Given the description of an element on the screen output the (x, y) to click on. 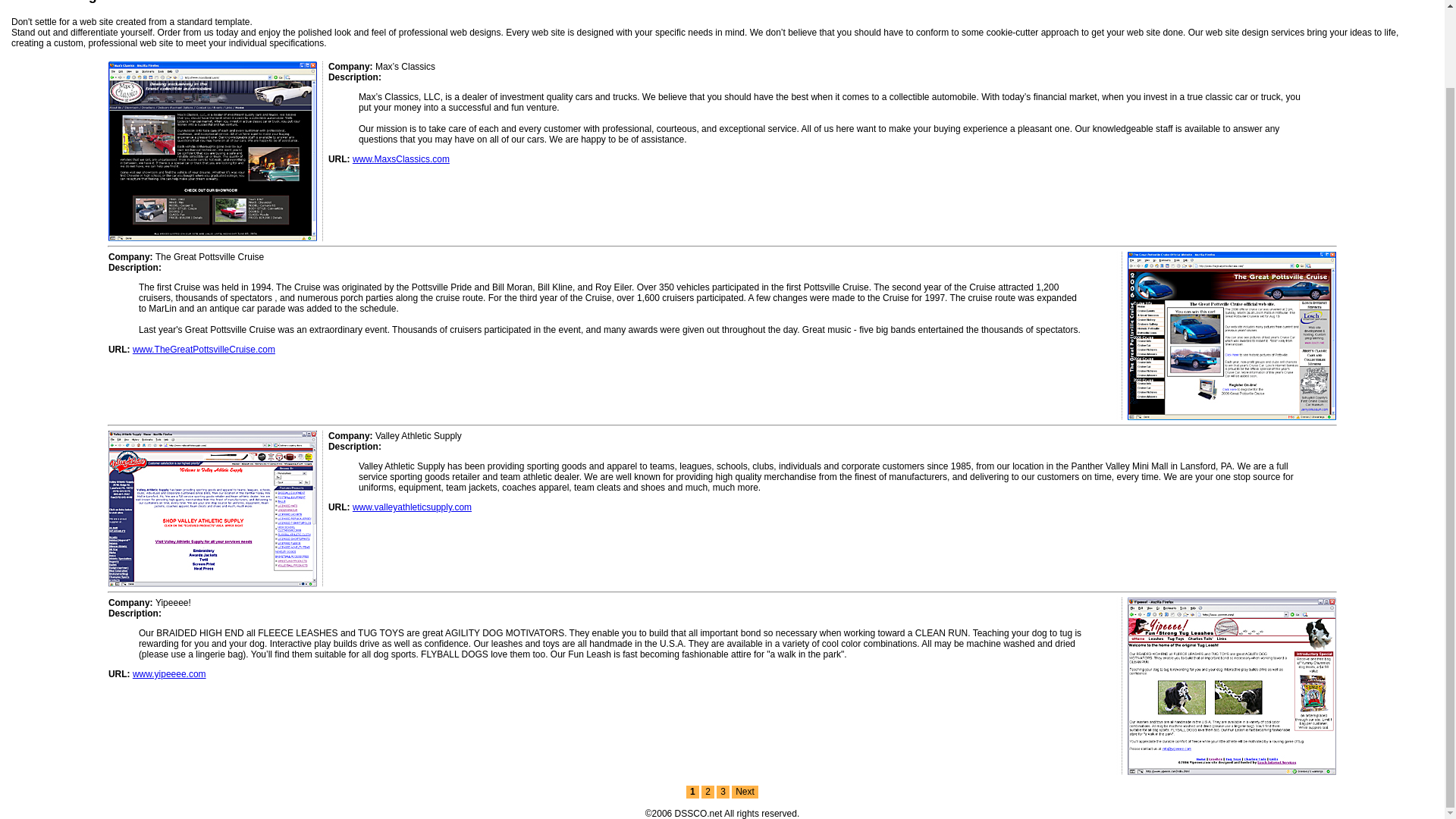
1 (691, 791)
www.valleyathleticsupply.com (411, 507)
Next (745, 791)
www.yipeeee.com (169, 674)
www.TheGreatPottsvilleCruise.com (203, 348)
2 (707, 791)
www.MaxsClassics.com (400, 158)
3 (722, 791)
